Given the description of an element on the screen output the (x, y) to click on. 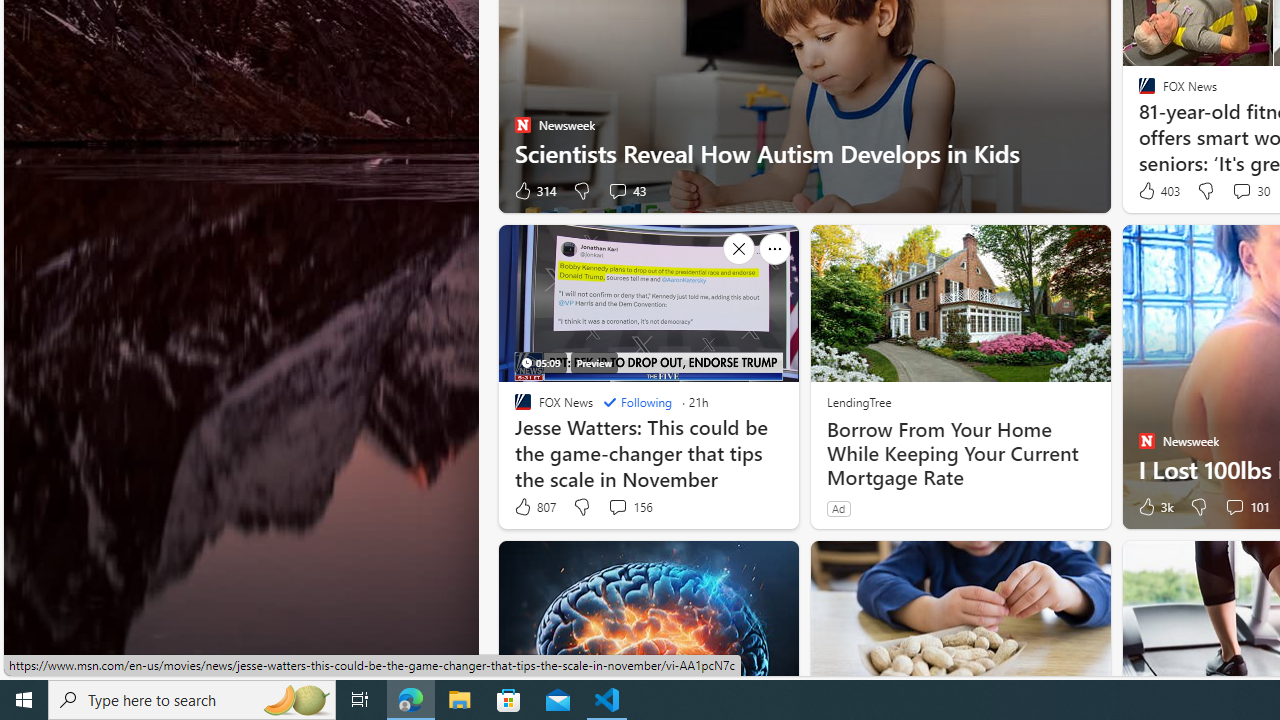
View comments 43 Comment (617, 190)
View comments 156 Comment (617, 506)
807 Like (534, 507)
